Given the description of an element on the screen output the (x, y) to click on. 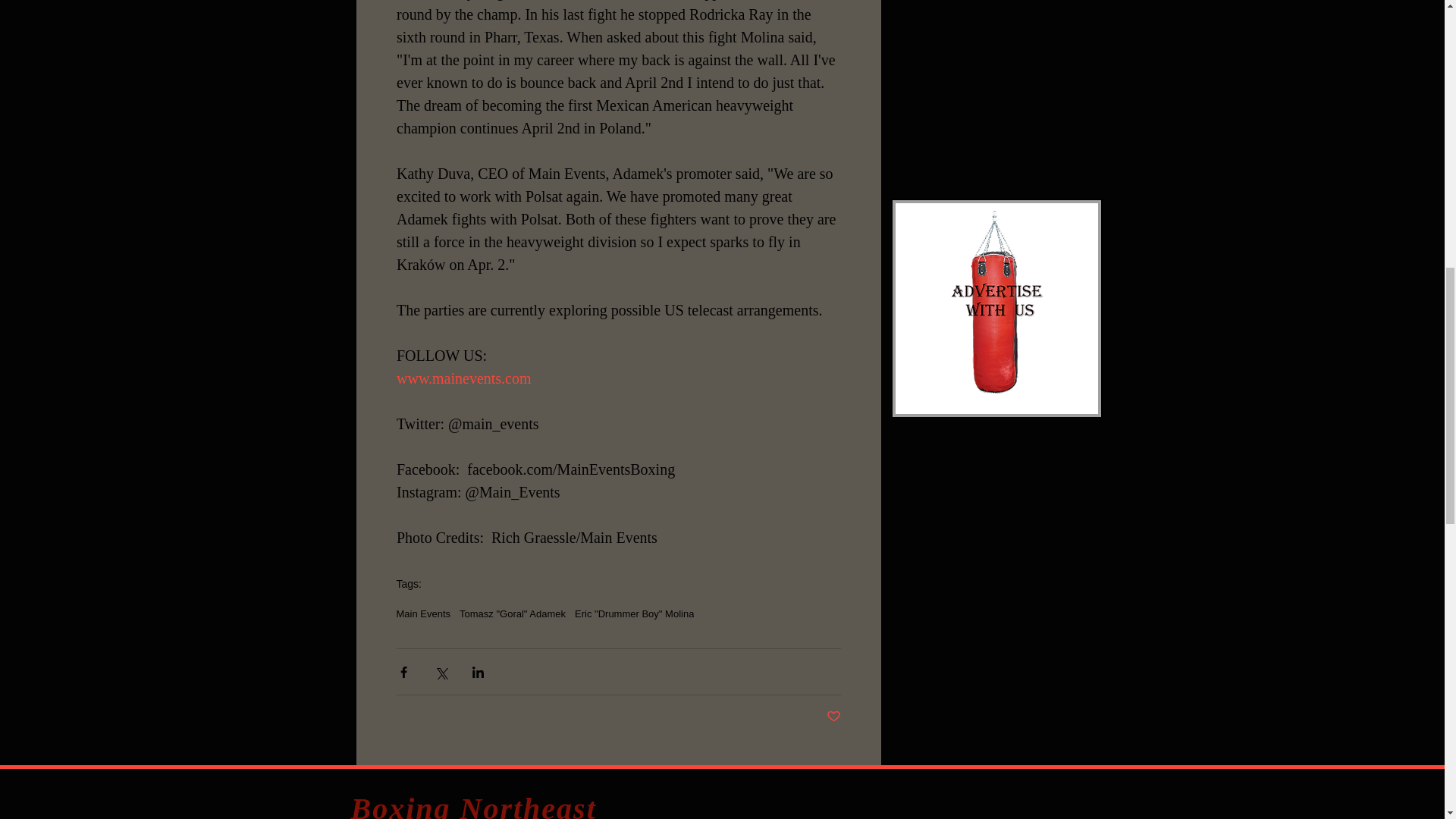
Main Events (422, 613)
www.mainevents.com  (465, 378)
Post not marked as liked (834, 716)
Eric "Drummer Boy" Molina (634, 613)
Tomasz "Goral" Adamek (513, 613)
Heavybag.png (995, 308)
